Given the description of an element on the screen output the (x, y) to click on. 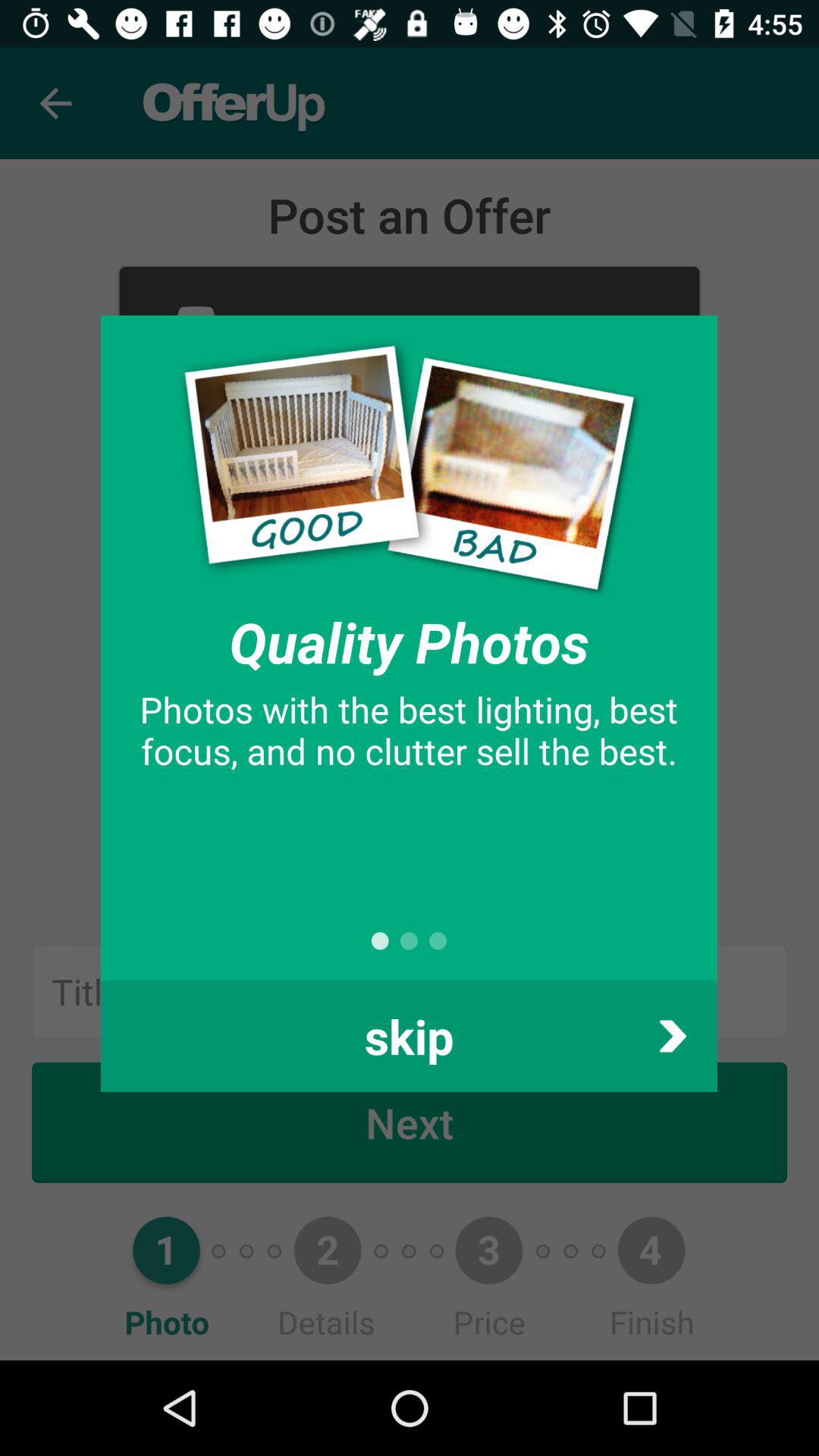
flip until skip icon (408, 1036)
